Given the description of an element on the screen output the (x, y) to click on. 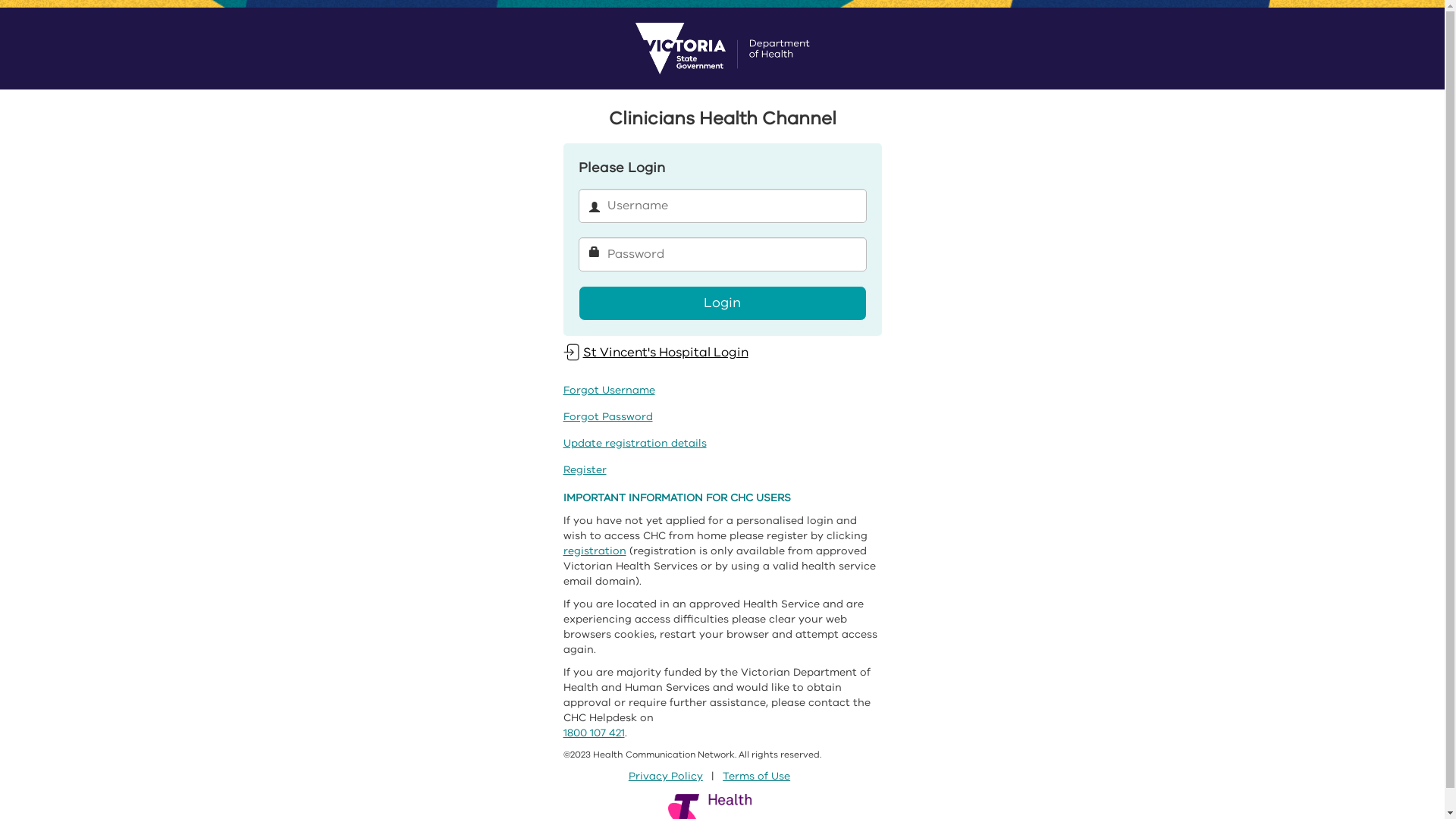
Update registration details Element type: text (634, 443)
St Vincent's Hospital Login Element type: text (654, 351)
Login Element type: text (721, 302)
Terms of Use Element type: text (756, 775)
Forgot Password Element type: text (607, 416)
registration Element type: text (593, 550)
Privacy Policy Element type: text (665, 775)
Forgot Username Element type: text (608, 389)
1800 107 421 Element type: text (593, 732)
Register Element type: text (583, 469)
